Given the description of an element on the screen output the (x, y) to click on. 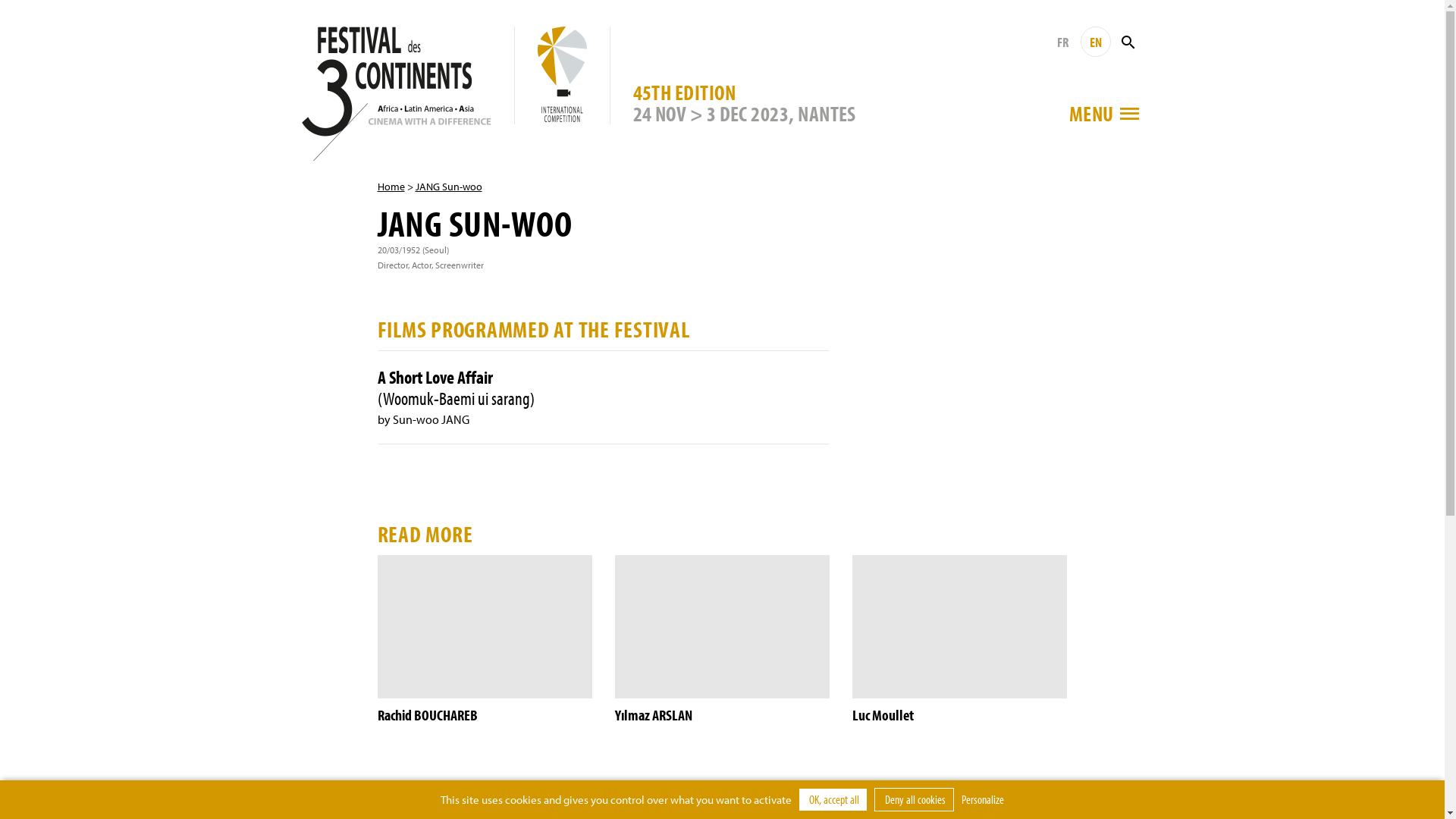
Personalize Element type: text (982, 799)
JANG Sun-woo Element type: text (448, 186)
A Short Love Affair
(Woomuk-Baemi ui sarang)
by Sun-woo JANG Element type: text (603, 397)
Home Element type: text (390, 186)
EN Element type: text (1094, 41)
Rachid BOUCHAREB Element type: text (483, 639)
OK, accept all Element type: text (832, 799)
Luc Moullet Element type: text (959, 639)
Deny all cookies Element type: text (913, 799)
FR Element type: text (1063, 41)
